Given the description of an element on the screen output the (x, y) to click on. 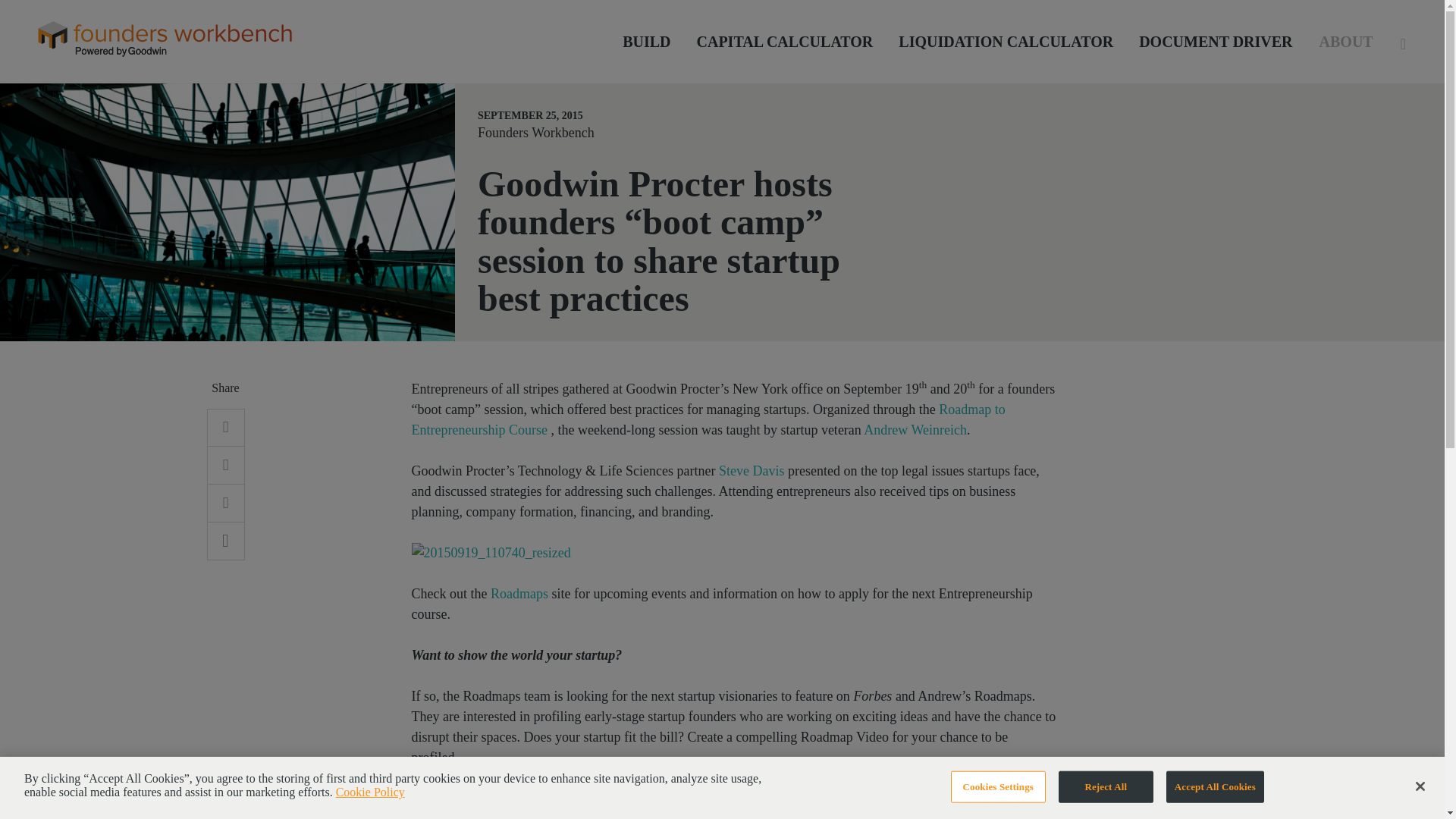
Share on Twitter (225, 465)
Steve Davis (751, 470)
Andrew Weinreich (914, 429)
Email this page (225, 541)
BUILD (646, 41)
LIQUIDATION CALCULATOR (1005, 41)
ABOUT (1346, 41)
Share on LinkedIn (225, 427)
CAPITAL CALCULATOR (783, 41)
DOCUMENT DRIVER (1215, 41)
